Given the description of an element on the screen output the (x, y) to click on. 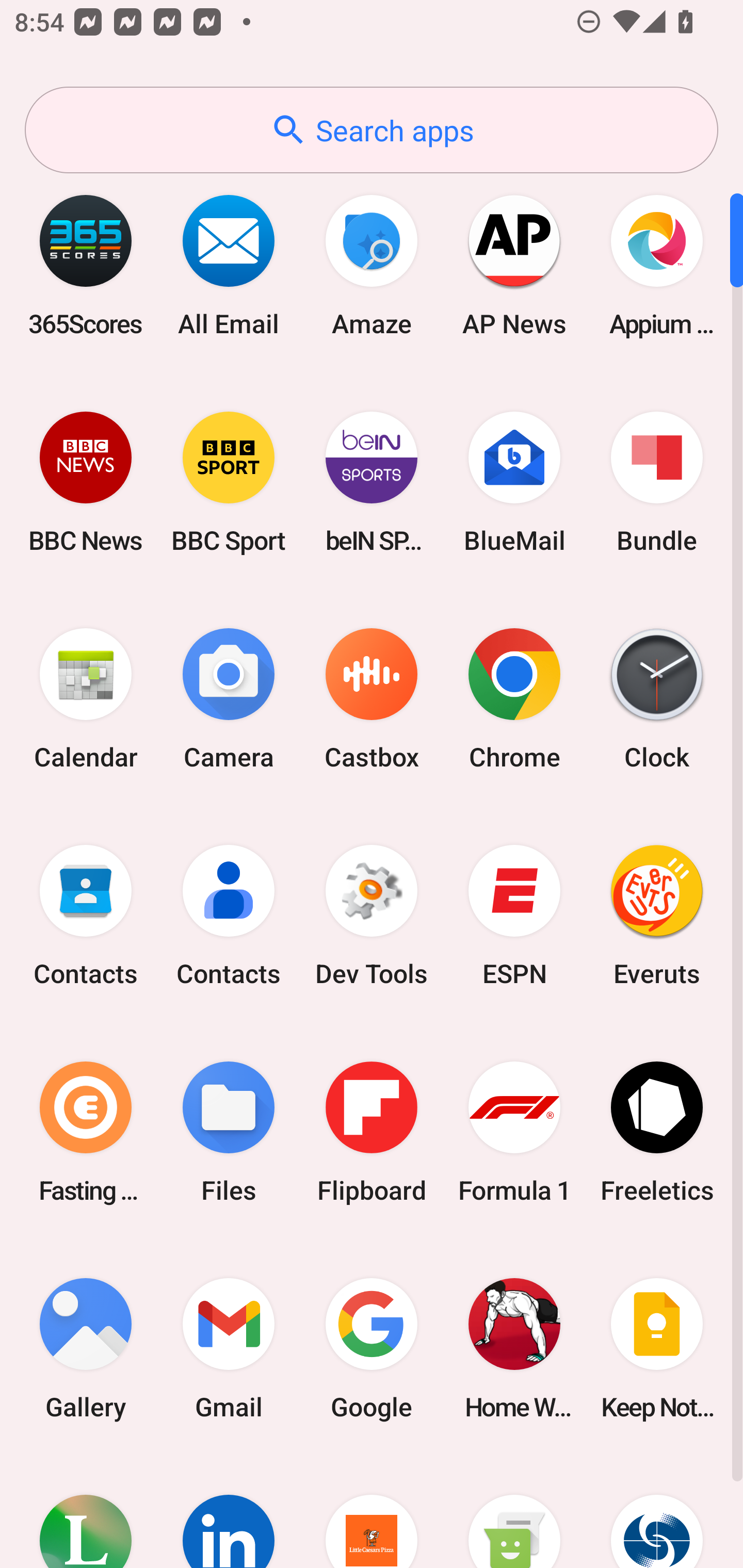
  Search apps (371, 130)
365Scores (85, 264)
All Email (228, 264)
Amaze (371, 264)
AP News (514, 264)
Appium Settings (656, 264)
BBC News (85, 482)
BBC Sport (228, 482)
beIN SPORTS (371, 482)
BlueMail (514, 482)
Bundle (656, 482)
Calendar (85, 699)
Camera (228, 699)
Castbox (371, 699)
Chrome (514, 699)
Clock (656, 699)
Contacts (85, 915)
Contacts (228, 915)
Dev Tools (371, 915)
ESPN (514, 915)
Everuts (656, 915)
Fasting Coach (85, 1131)
Files (228, 1131)
Flipboard (371, 1131)
Formula 1 (514, 1131)
Freeletics (656, 1131)
Gallery (85, 1348)
Gmail (228, 1348)
Google (371, 1348)
Home Workout (514, 1348)
Keep Notes (656, 1348)
